Given the description of an element on the screen output the (x, y) to click on. 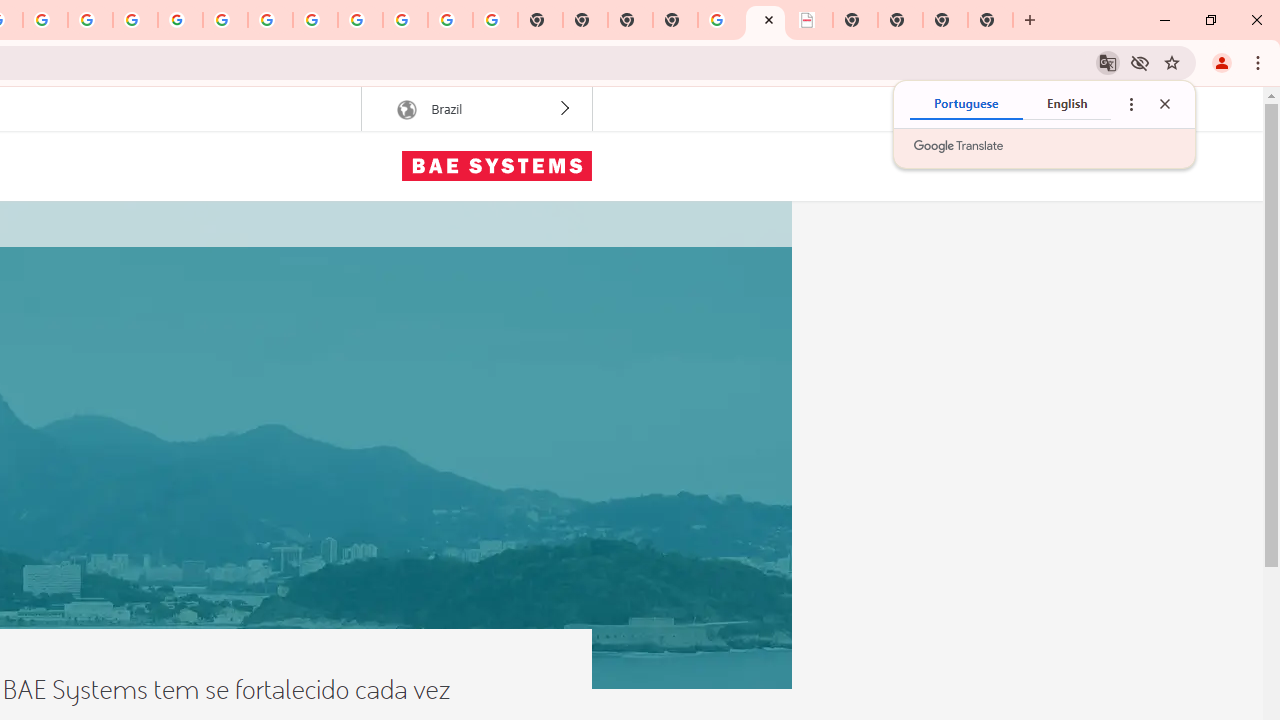
Translate this page (1107, 62)
New Tab (674, 20)
BAE Systems Brasil | BAE Systems (765, 20)
BAE Systems Brasil | BAE Systems (810, 20)
English (1066, 103)
BAE Systems (495, 165)
Privacy Help Center - Policies Help (45, 20)
